Given the description of an element on the screen output the (x, y) to click on. 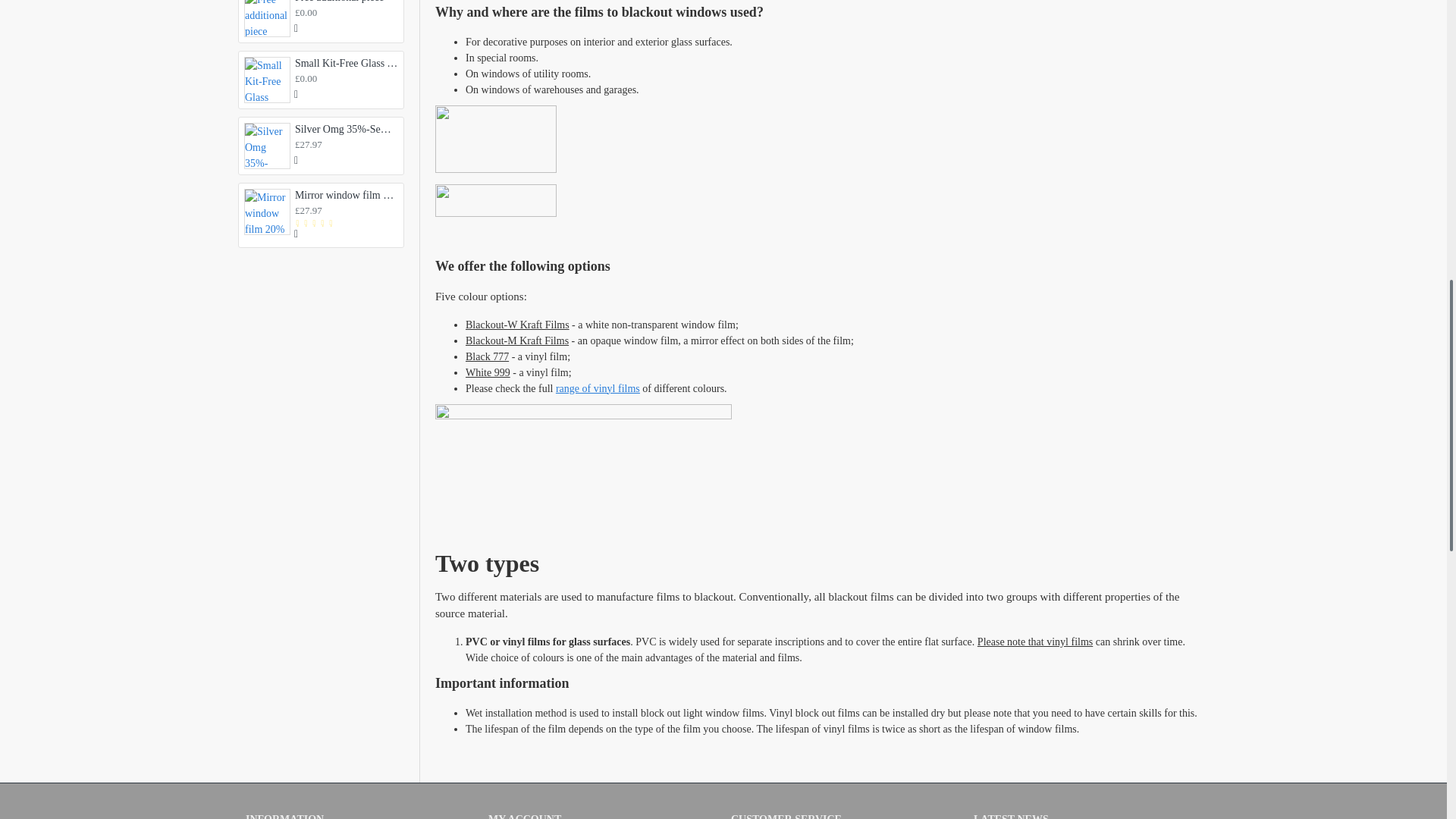
Add to Cart (296, 160)
Add to Cart (296, 94)
Add to Cart (296, 28)
Free additional piece (266, 18)
Small Kit-Free Glass Tinting Tool (266, 79)
